Given the description of an element on the screen output the (x, y) to click on. 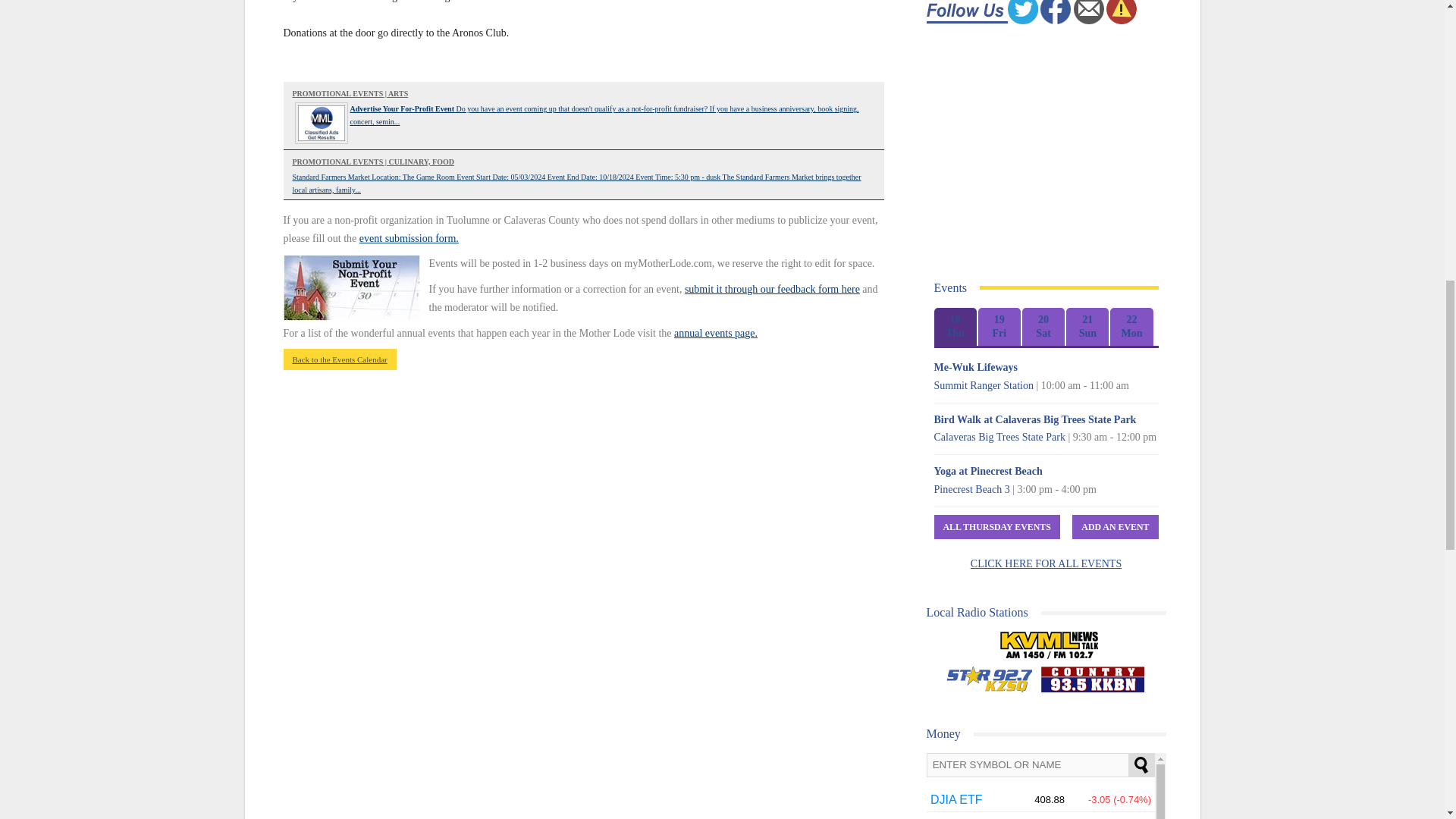
All Thursday Events (996, 527)
Add An Event (1114, 527)
